Given the description of an element on the screen output the (x, y) to click on. 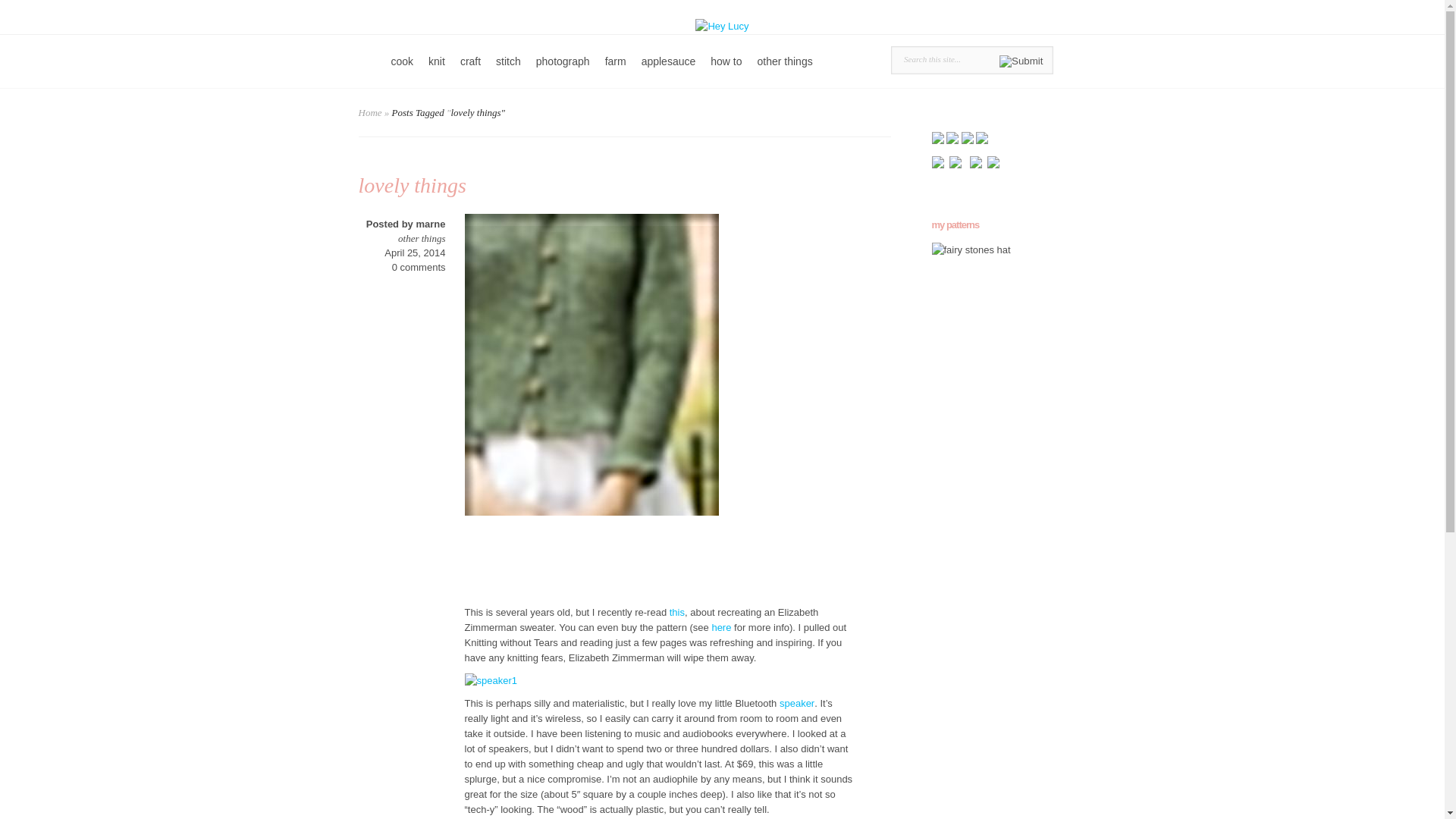
a Zimmerman original sweater (676, 612)
cook (403, 70)
how to (726, 70)
this (676, 612)
Search this site... (942, 59)
knit (436, 70)
speaker (795, 703)
stitch (507, 70)
photograph (562, 70)
applesauce (668, 70)
marne (429, 224)
farm (614, 70)
lovely things (411, 185)
Zimmerman sweater (720, 627)
here (720, 627)
